Given the description of an element on the screen output the (x, y) to click on. 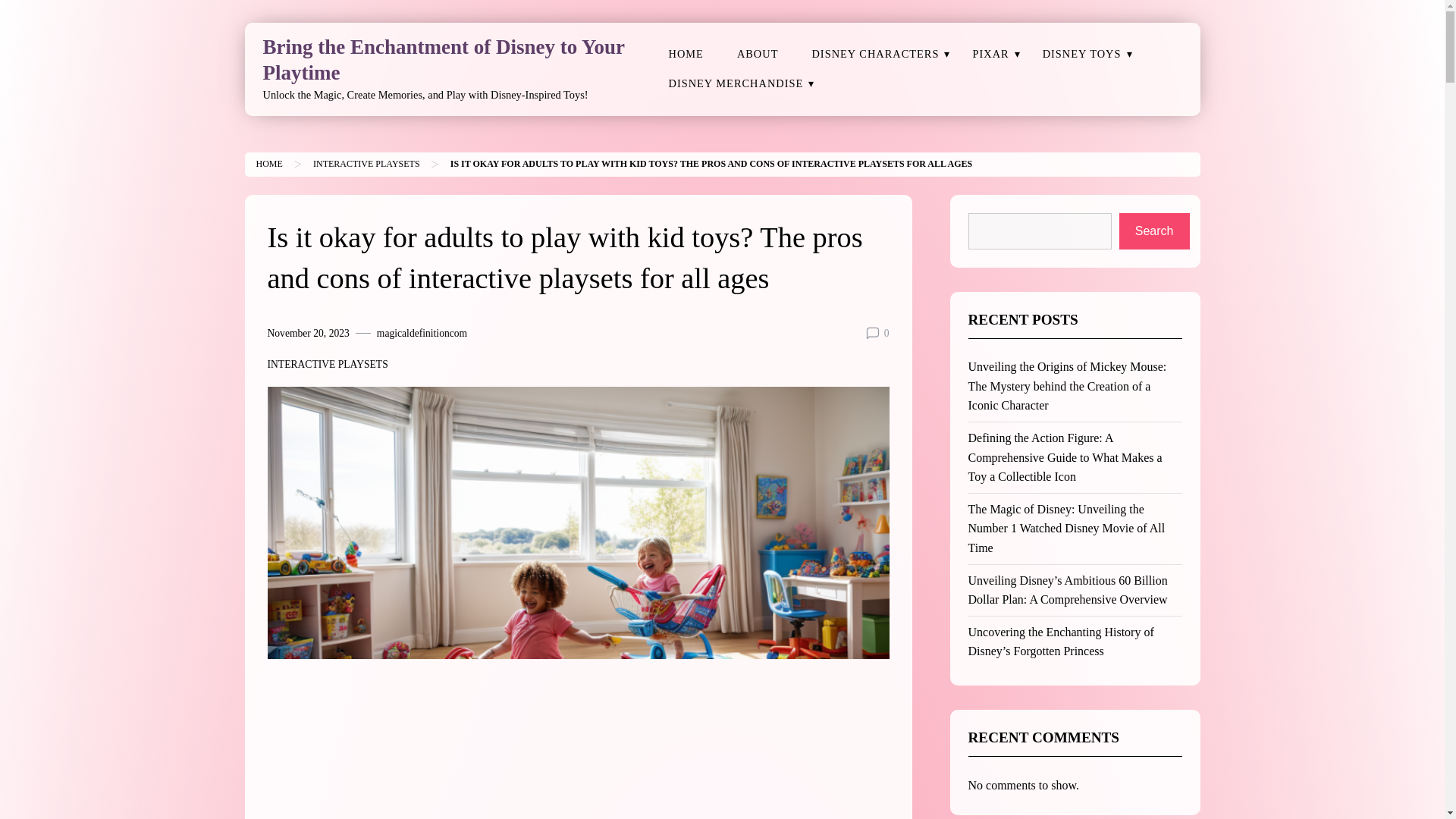
DISNEY CHARACTERS (874, 53)
HOME (686, 53)
November 20, 2023 (307, 333)
magicaldefinitioncom (422, 333)
Bring the Enchantment of Disney to Your Playtime (443, 60)
Home (269, 163)
DISNEY MERCHANDISE (735, 83)
INTERACTIVE PLAYSETS (326, 364)
DISNEY TOYS (1082, 53)
